Given the description of an element on the screen output the (x, y) to click on. 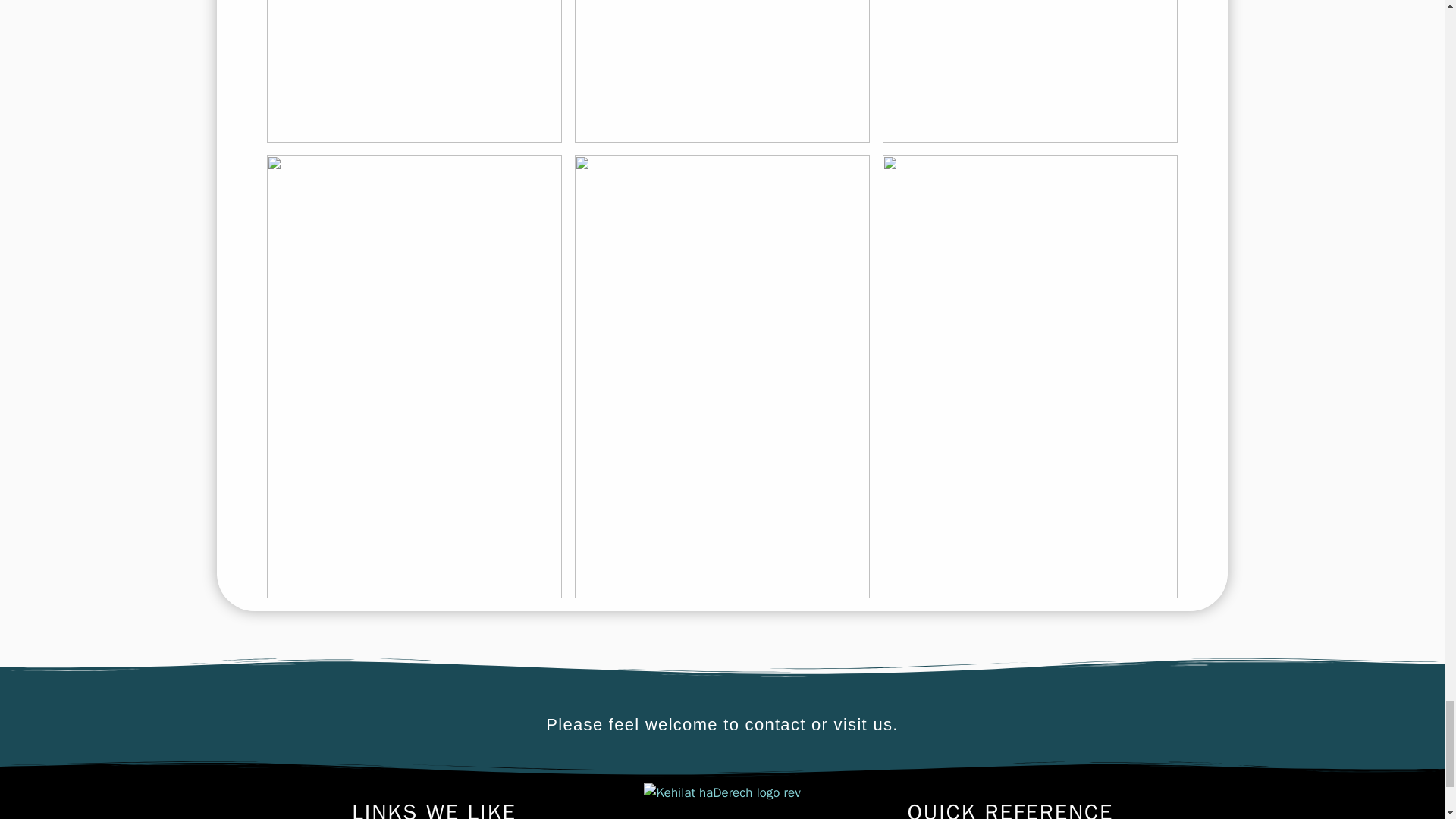
logo-rev (721, 792)
